Given the description of an element on the screen output the (x, y) to click on. 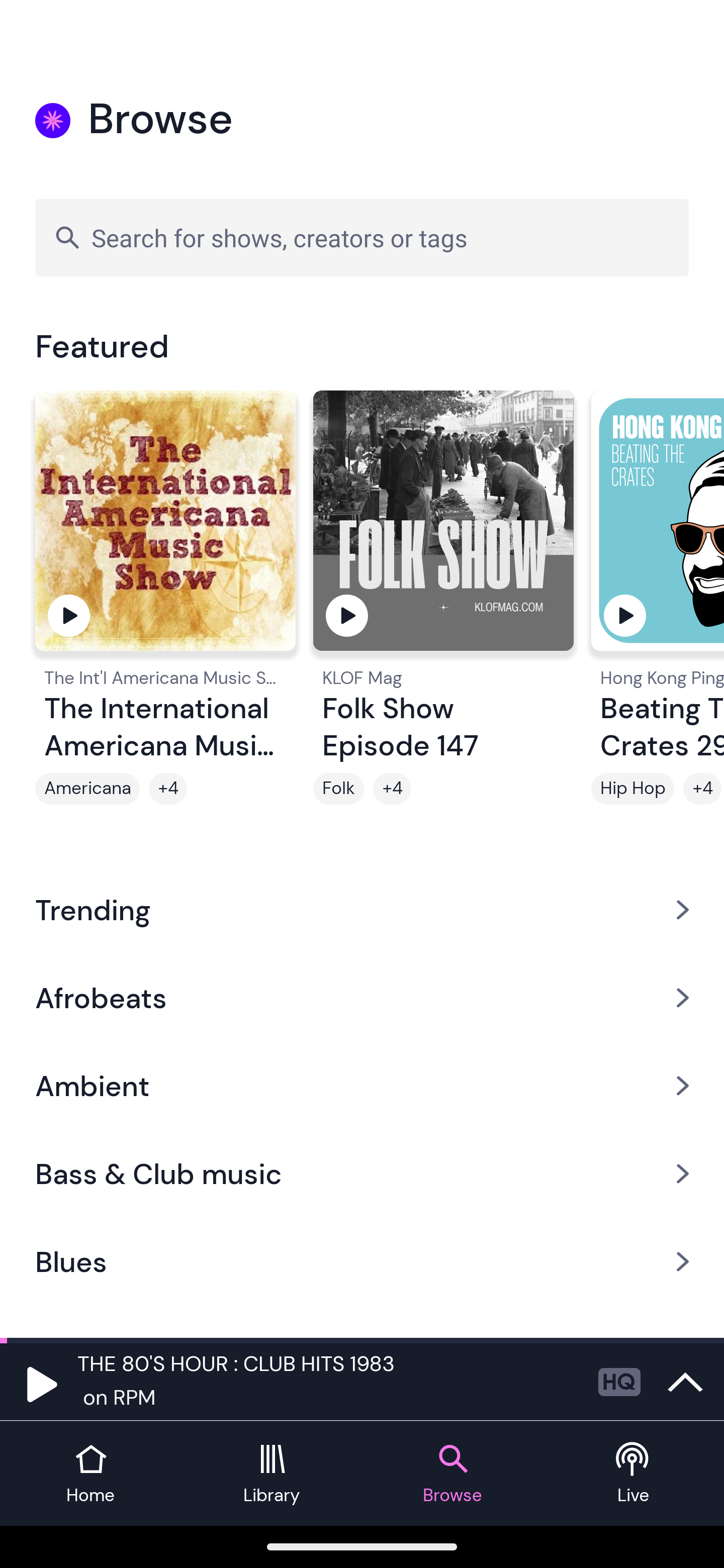
Search for shows, creators or tags (361, 237)
Americana (87, 788)
Folk (338, 788)
Hip Hop (632, 788)
Trending (361, 909)
Afrobeats (361, 997)
Ambient (361, 1085)
Bass & Club music (361, 1174)
Blues (361, 1262)
Home tab Home (90, 1473)
Library tab Library (271, 1473)
Browse tab Browse (452, 1473)
Live tab Live (633, 1473)
